Given the description of an element on the screen output the (x, y) to click on. 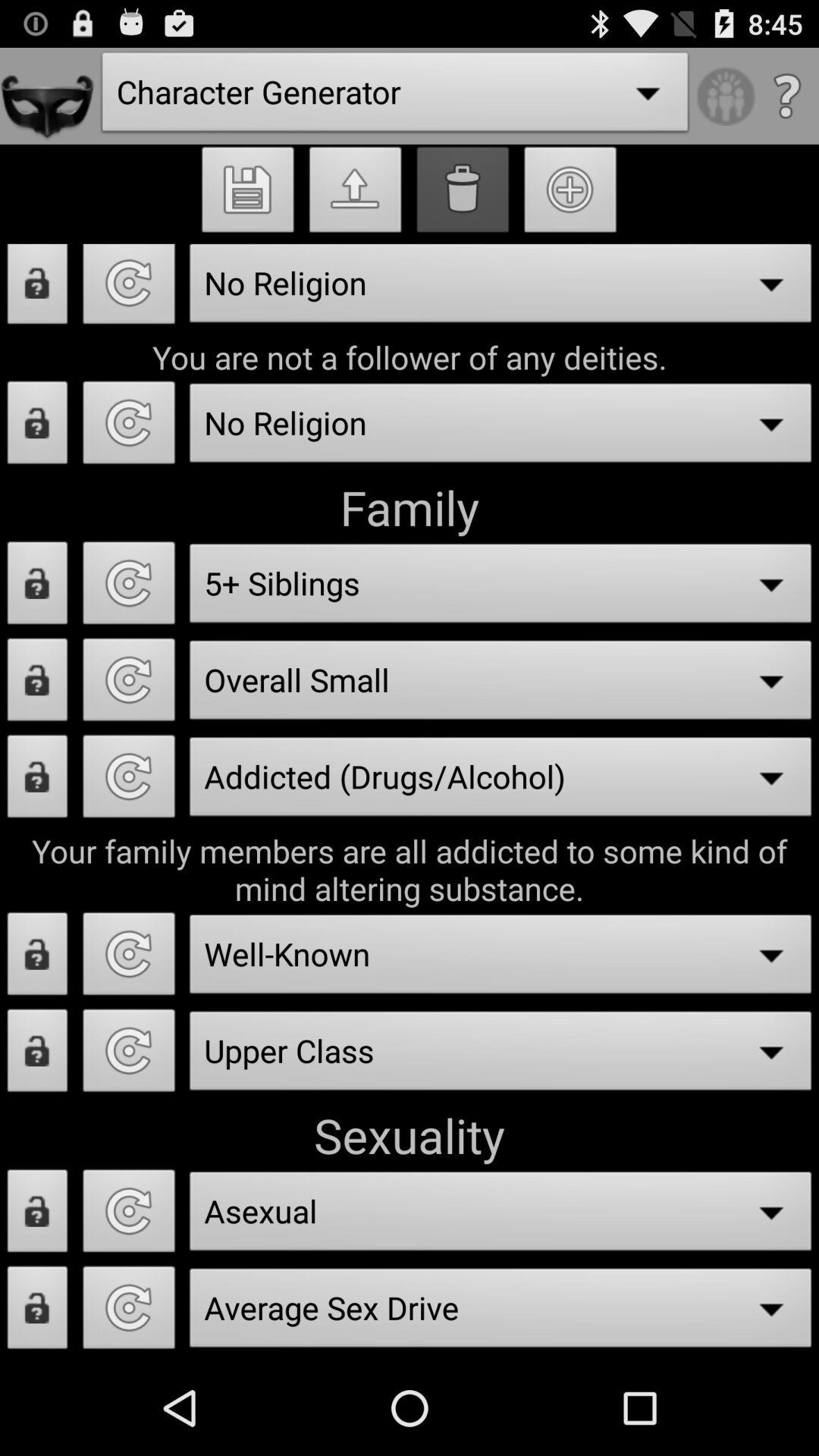
generate caracter (129, 1215)
